Given the description of an element on the screen output the (x, y) to click on. 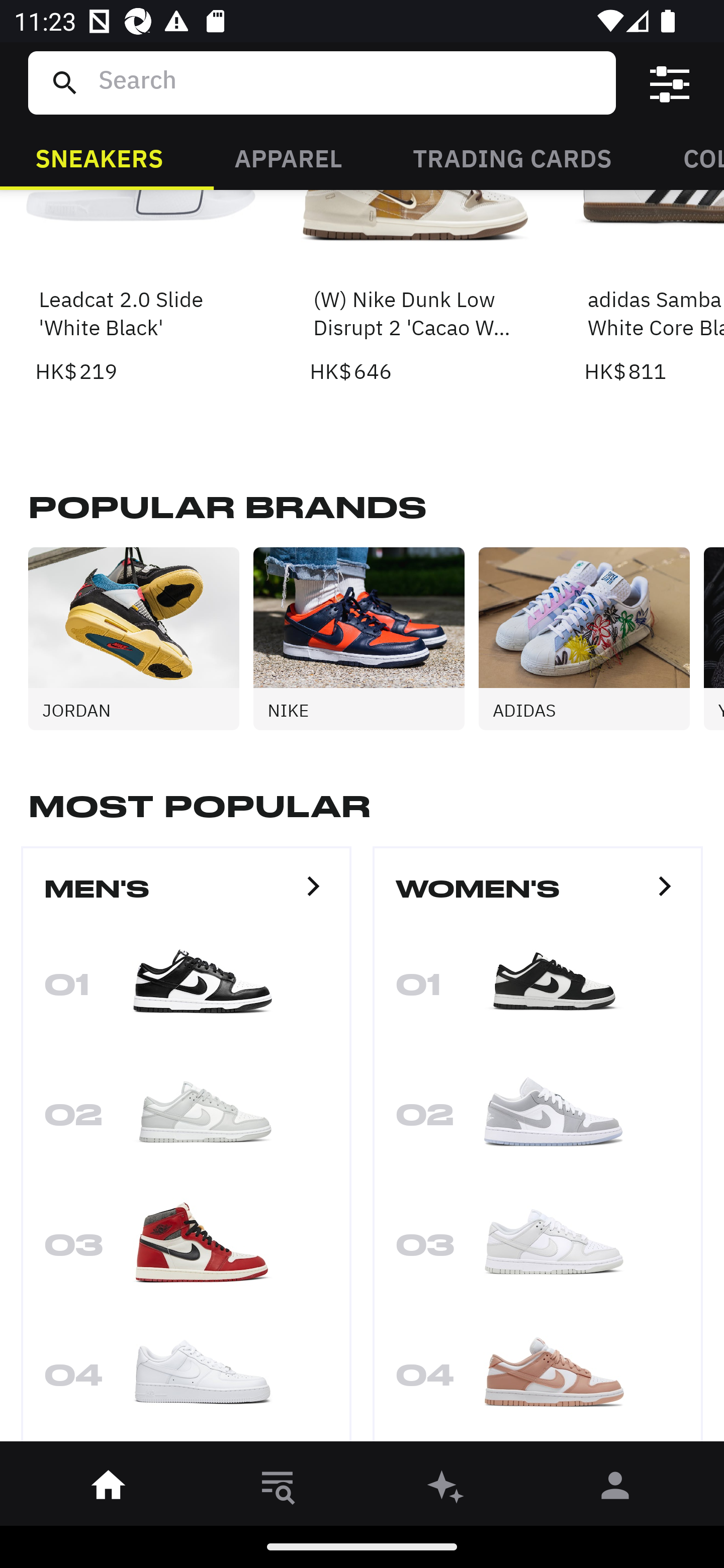
Search (349, 82)
 (669, 82)
SNEAKERS (99, 156)
APPAREL (287, 156)
TRADING CARDS (512, 156)
Leadcat 2.0 Slide 'White Black' HK$ 219 (140, 288)
adidas Samba 'Cloud White Core Black' HK$ 811 (654, 288)
JORDAN (140, 638)
NIKE (365, 638)
ADIDAS (590, 638)
MEN'S  (186, 896)
WOMEN'S  (538, 896)
01 (186, 990)
01 (538, 990)
02 (186, 1120)
02 (538, 1120)
03 (186, 1250)
03 (538, 1250)
04 (186, 1380)
04 (538, 1380)
󰋜 (108, 1488)
󱎸 (277, 1488)
󰫢 (446, 1488)
󰀄 (615, 1488)
